Given the description of an element on the screen output the (x, y) to click on. 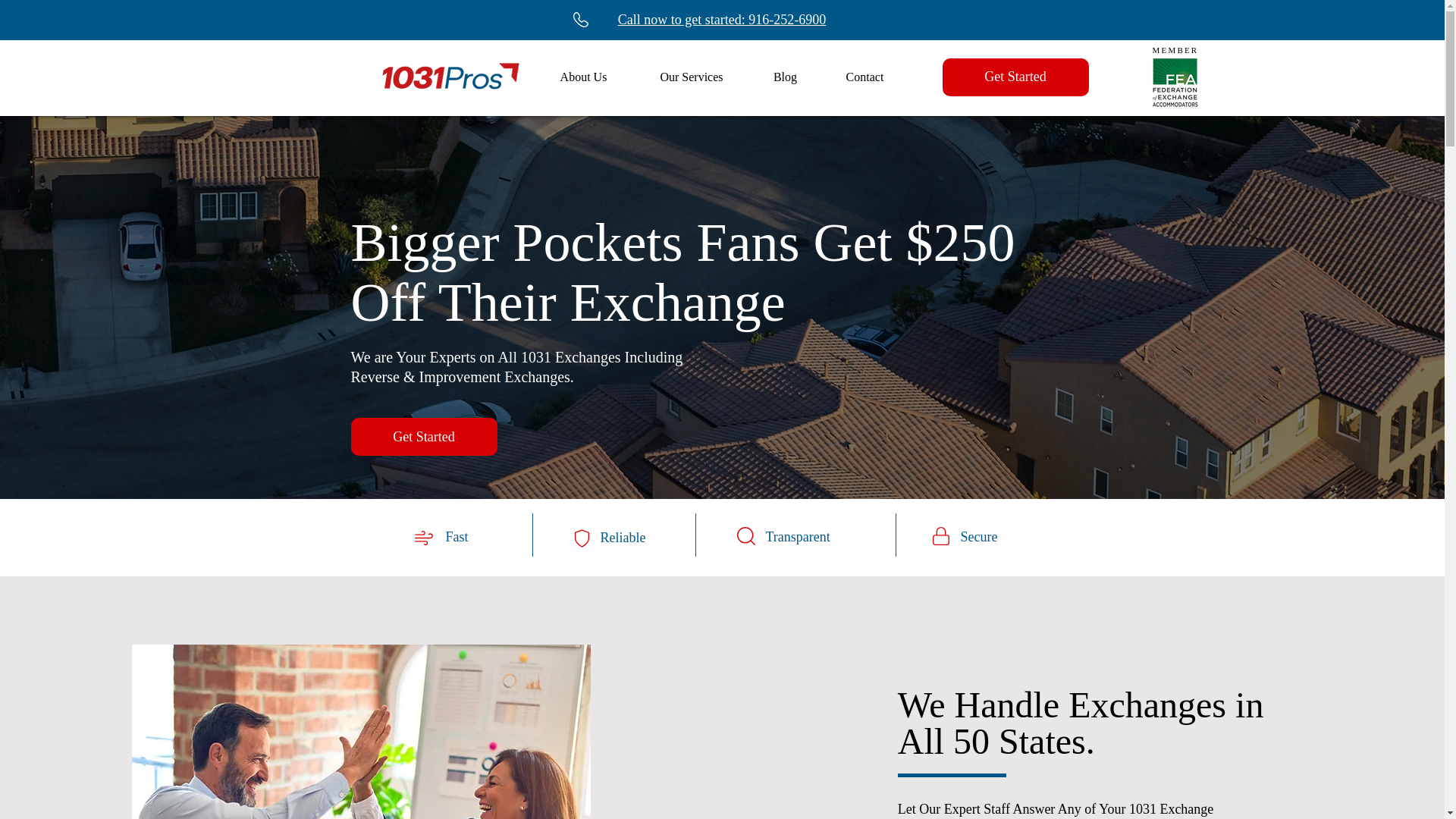
Call now to get started: 916-252-6900 (721, 19)
Contact (865, 77)
Get Started (423, 436)
Blog (786, 77)
Get Started (1014, 77)
